Given the description of an element on the screen output the (x, y) to click on. 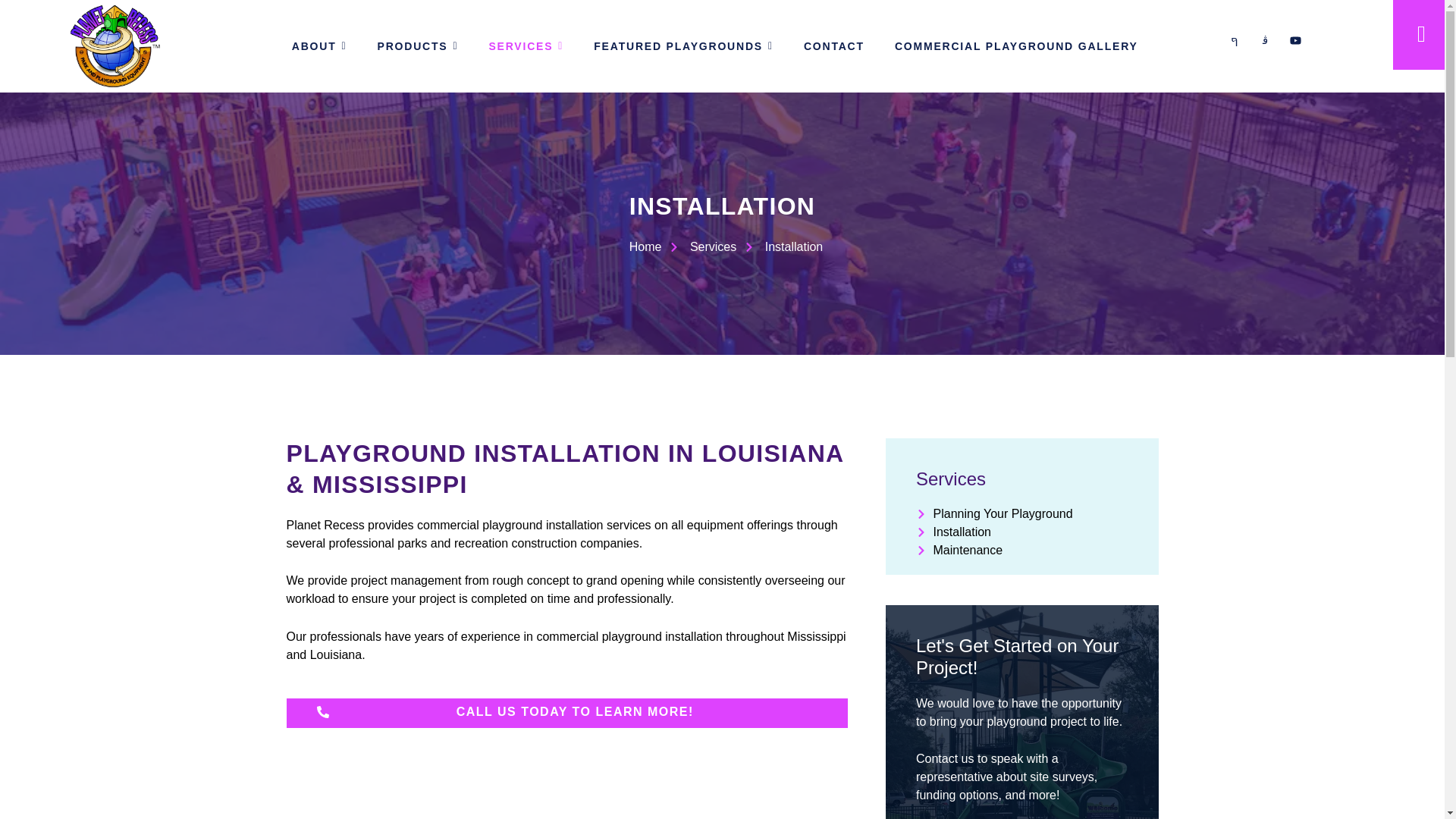
PRODUCTS (418, 45)
FEATURED PLAYGROUNDS (683, 45)
Jki-facebook-light (1240, 46)
Youtube (1301, 46)
COMMERCIAL PLAYGROUND GALLERY (1016, 45)
SERVICES (525, 45)
CONTACT (834, 45)
Jki-instagram-1-light (1270, 46)
ABOUT (319, 45)
